Given the description of an element on the screen output the (x, y) to click on. 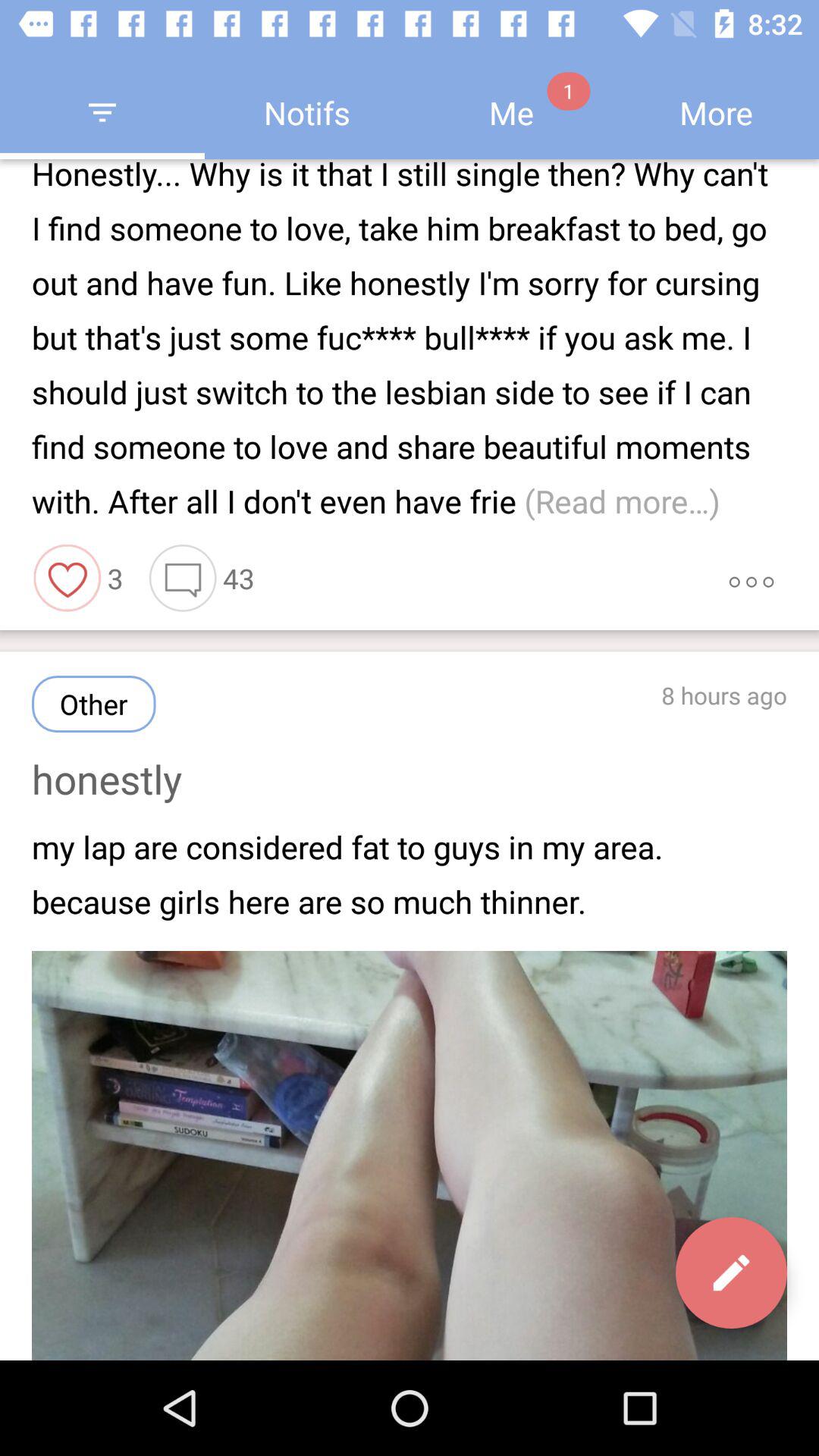
press icon below the honestly why is (67, 578)
